Given the description of an element on the screen output the (x, y) to click on. 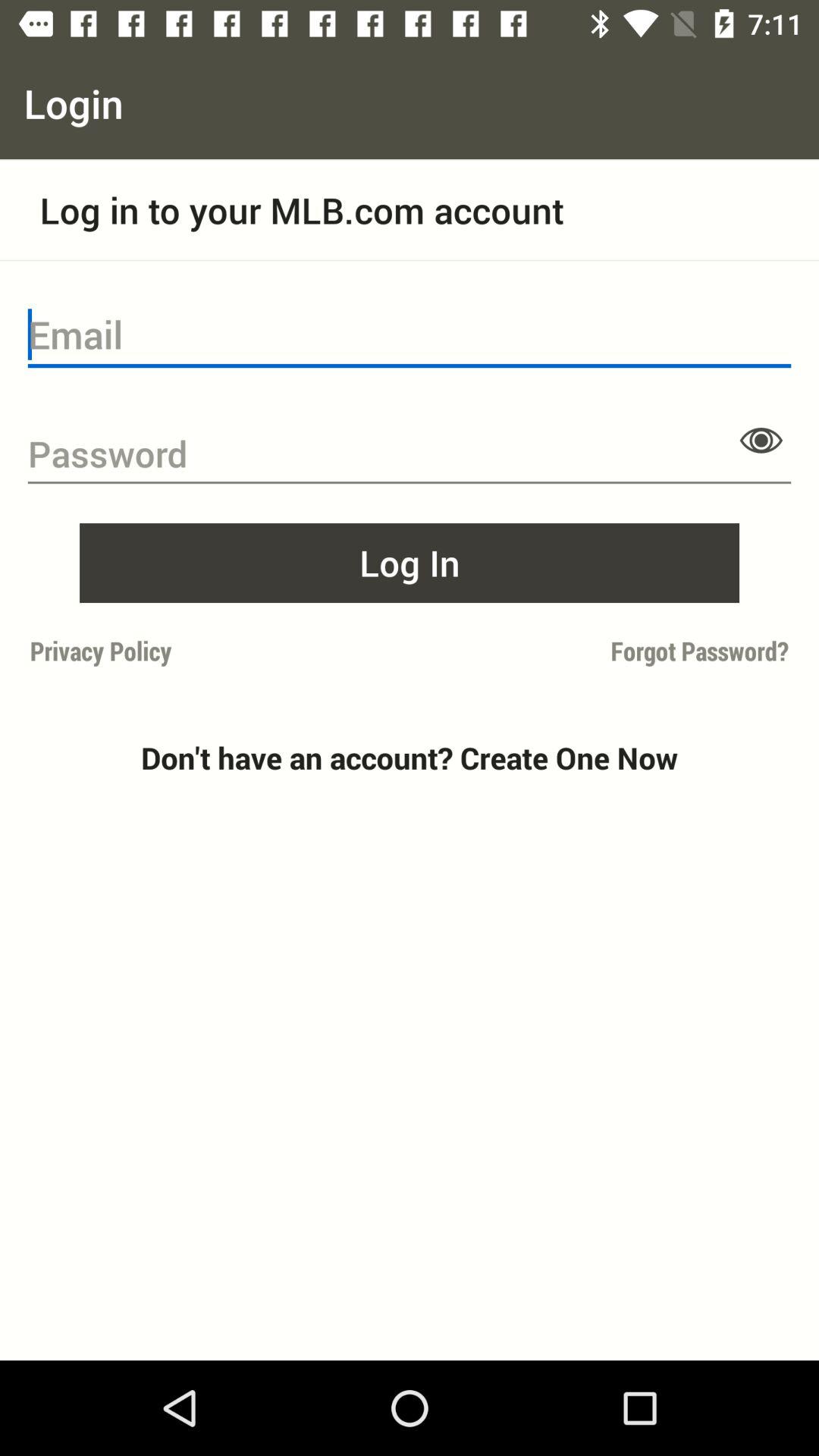
launch item to the left of forgot password? (214, 650)
